Given the description of an element on the screen output the (x, y) to click on. 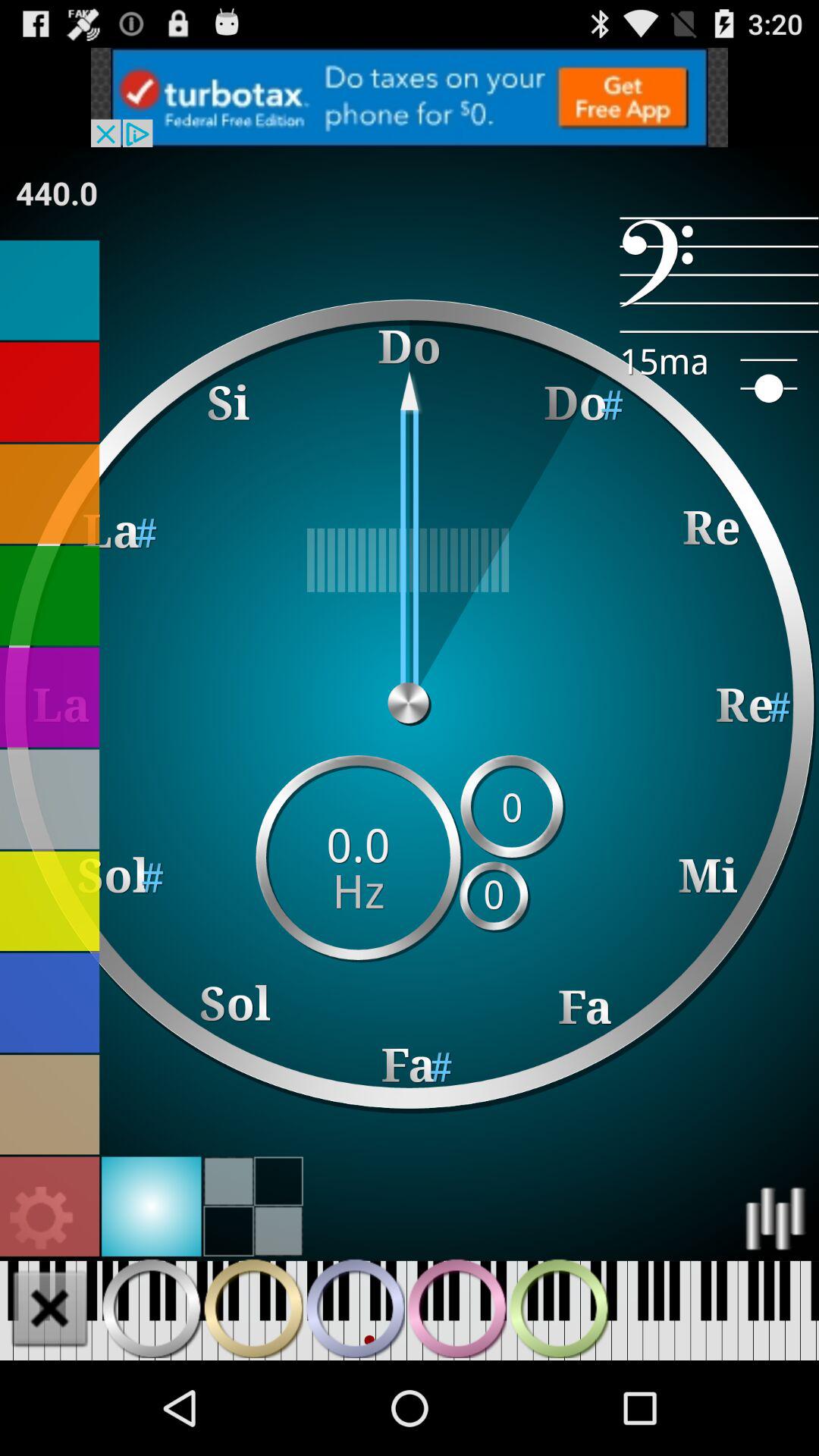
click piyano button (253, 1308)
